Given the description of an element on the screen output the (x, y) to click on. 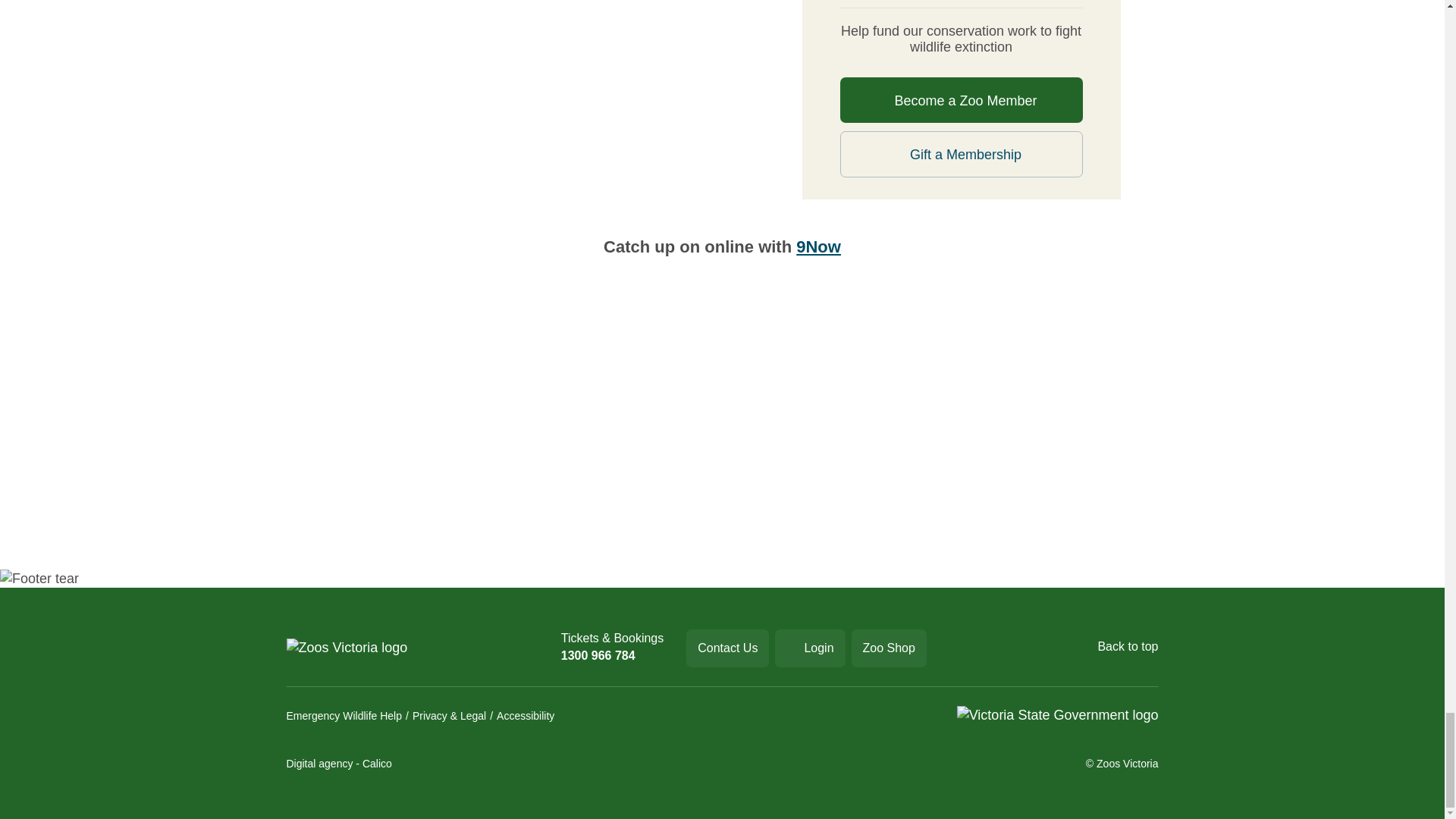
1300 966 784 (611, 655)
Contact Us (726, 648)
Zoo Shop (888, 648)
Become a Zoo Member (961, 99)
Back to top (1118, 648)
Login (809, 648)
9Now (818, 246)
YouTube video player (536, 430)
Gift a Membership (961, 154)
